Given the description of an element on the screen output the (x, y) to click on. 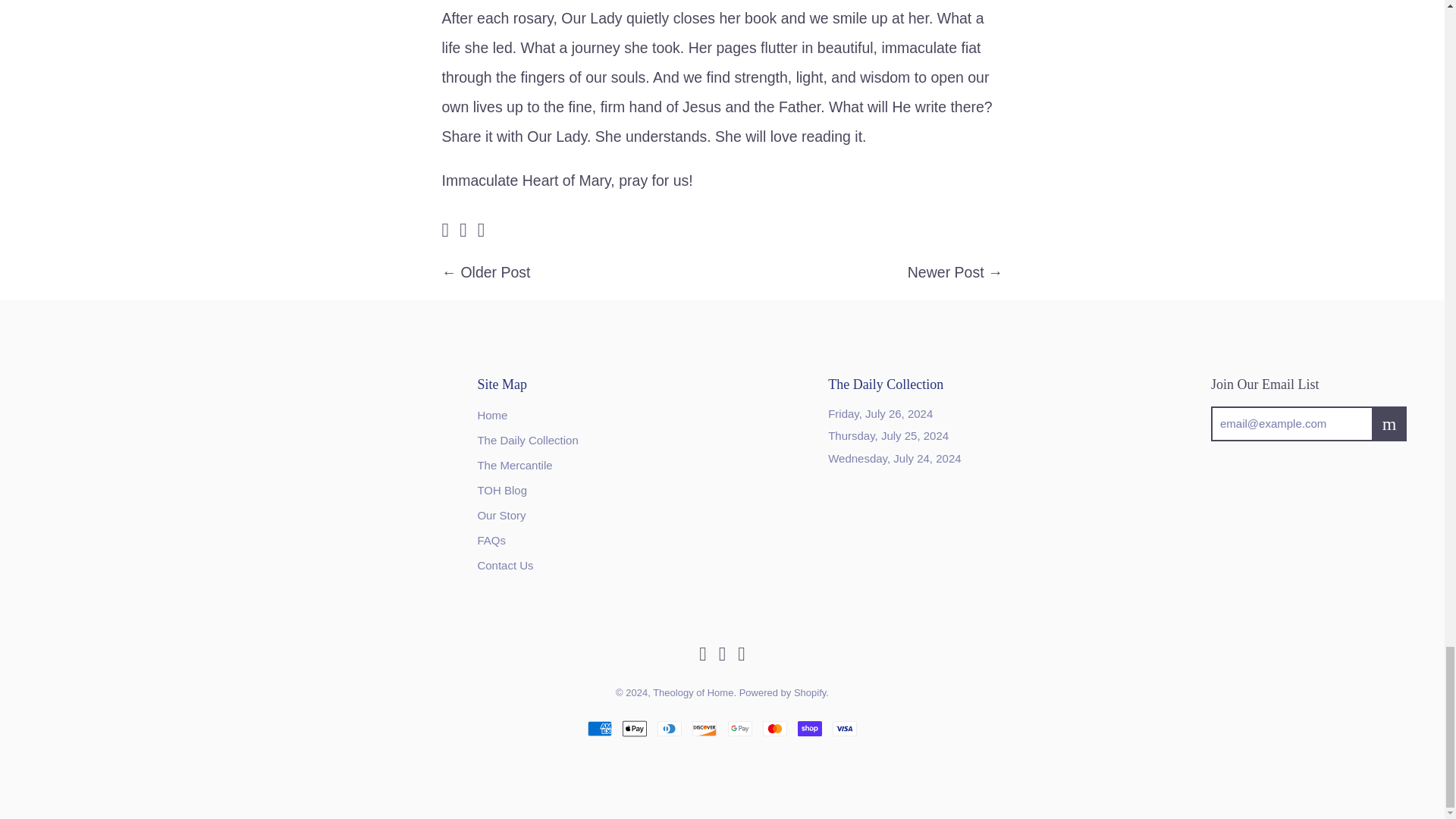
Thursday, July 25, 2024 (888, 435)
Friday, July 26, 2024 (880, 413)
Theology of Home (444, 230)
Wednesday, July 24, 2024 (894, 458)
Theology of Home (463, 230)
